Given the description of an element on the screen output the (x, y) to click on. 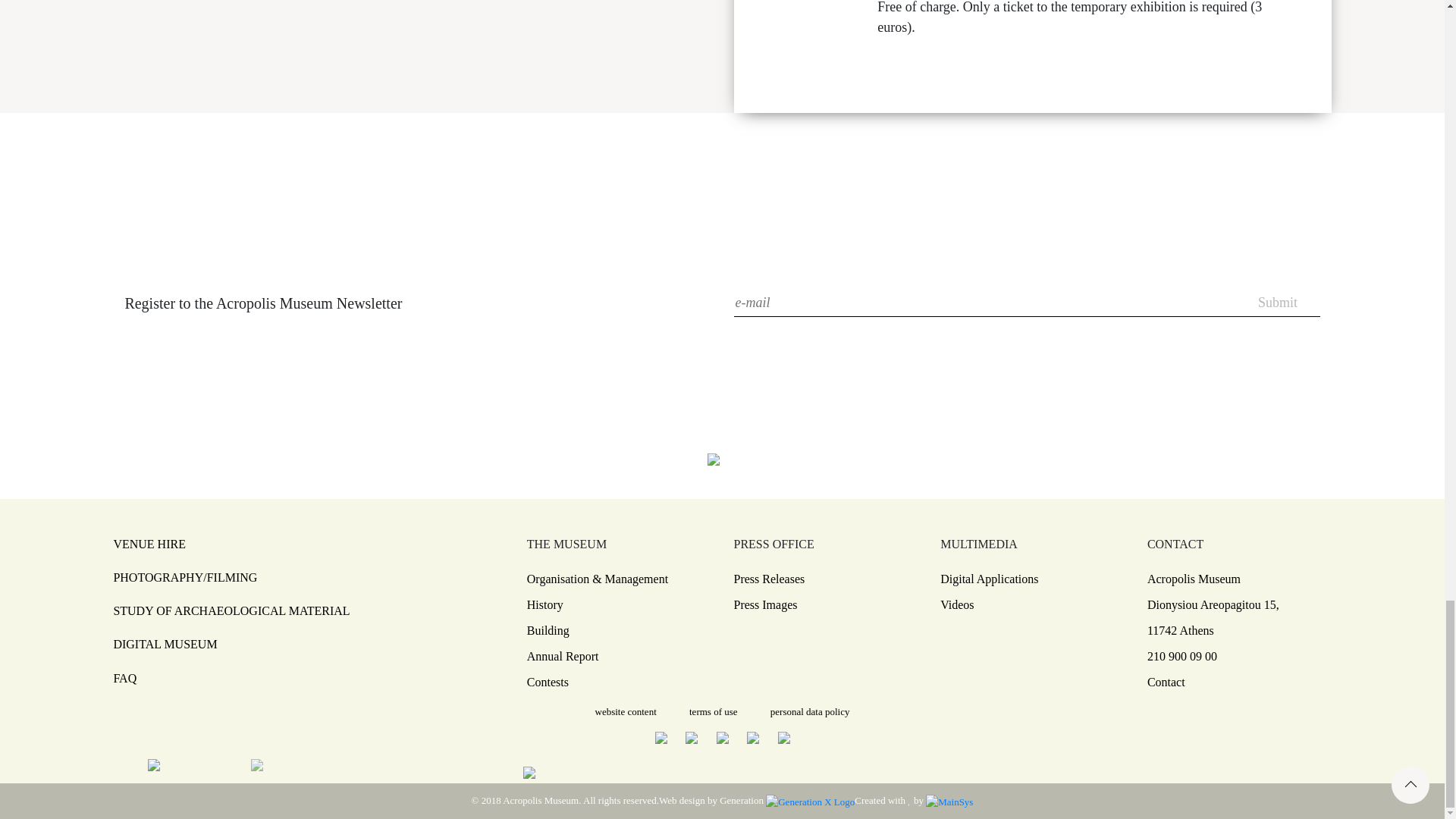
DIGITAL MUSEUM (164, 644)
Videos (1032, 605)
Contests (619, 682)
Building (619, 630)
Annual Report (619, 656)
VENUE HIRE (149, 543)
Submit (1278, 303)
Press Releases (825, 579)
History (619, 605)
Digital Applications (1032, 579)
